Given the description of an element on the screen output the (x, y) to click on. 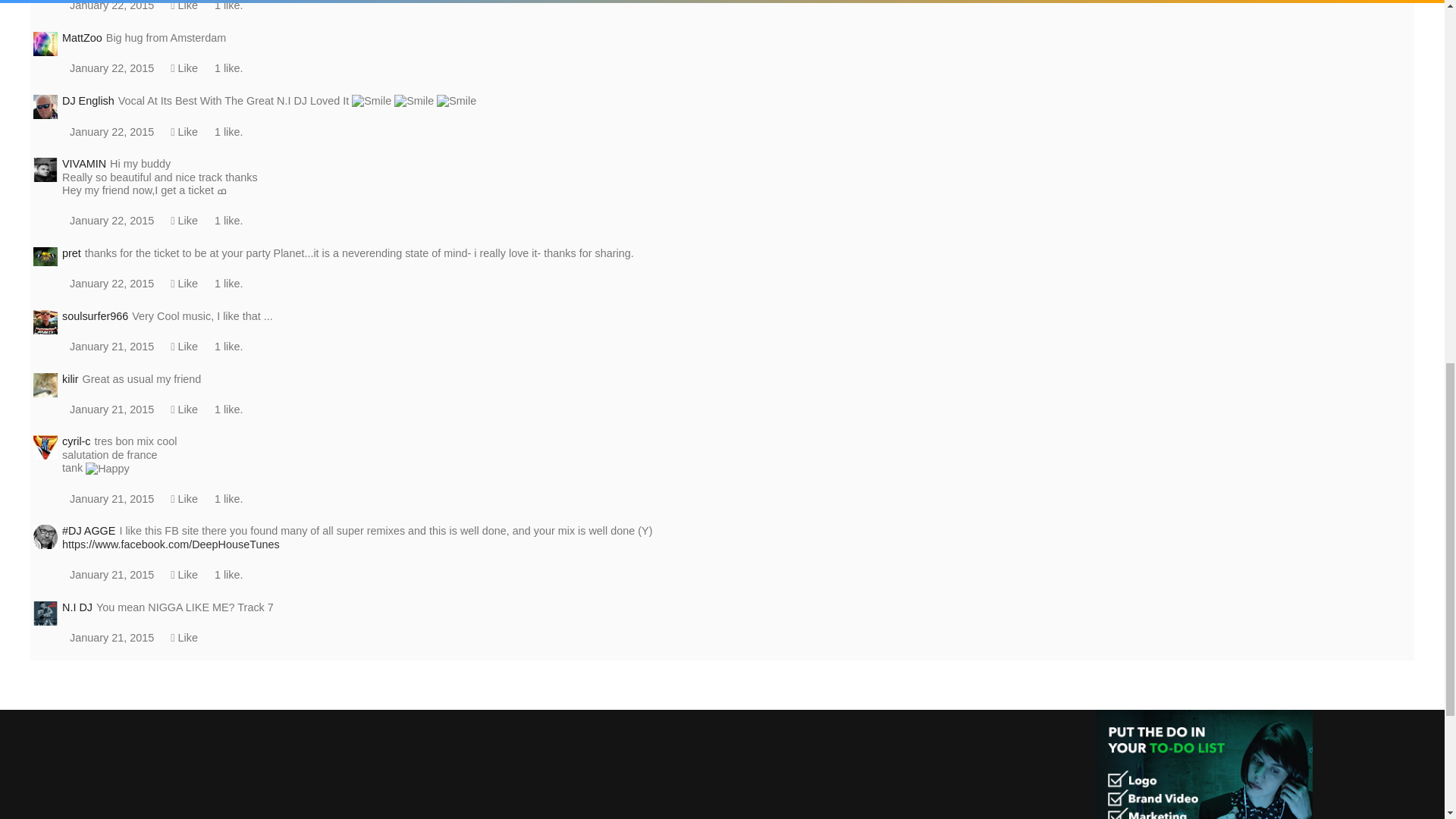
pret (45, 256)
Smile (413, 101)
VIVAMIN (45, 169)
DJ English (45, 106)
soulsurfer966 (45, 320)
MattZoo (45, 42)
Smile (456, 101)
Smile (371, 101)
pret (45, 255)
MattZoo (45, 43)
